Given the description of an element on the screen output the (x, y) to click on. 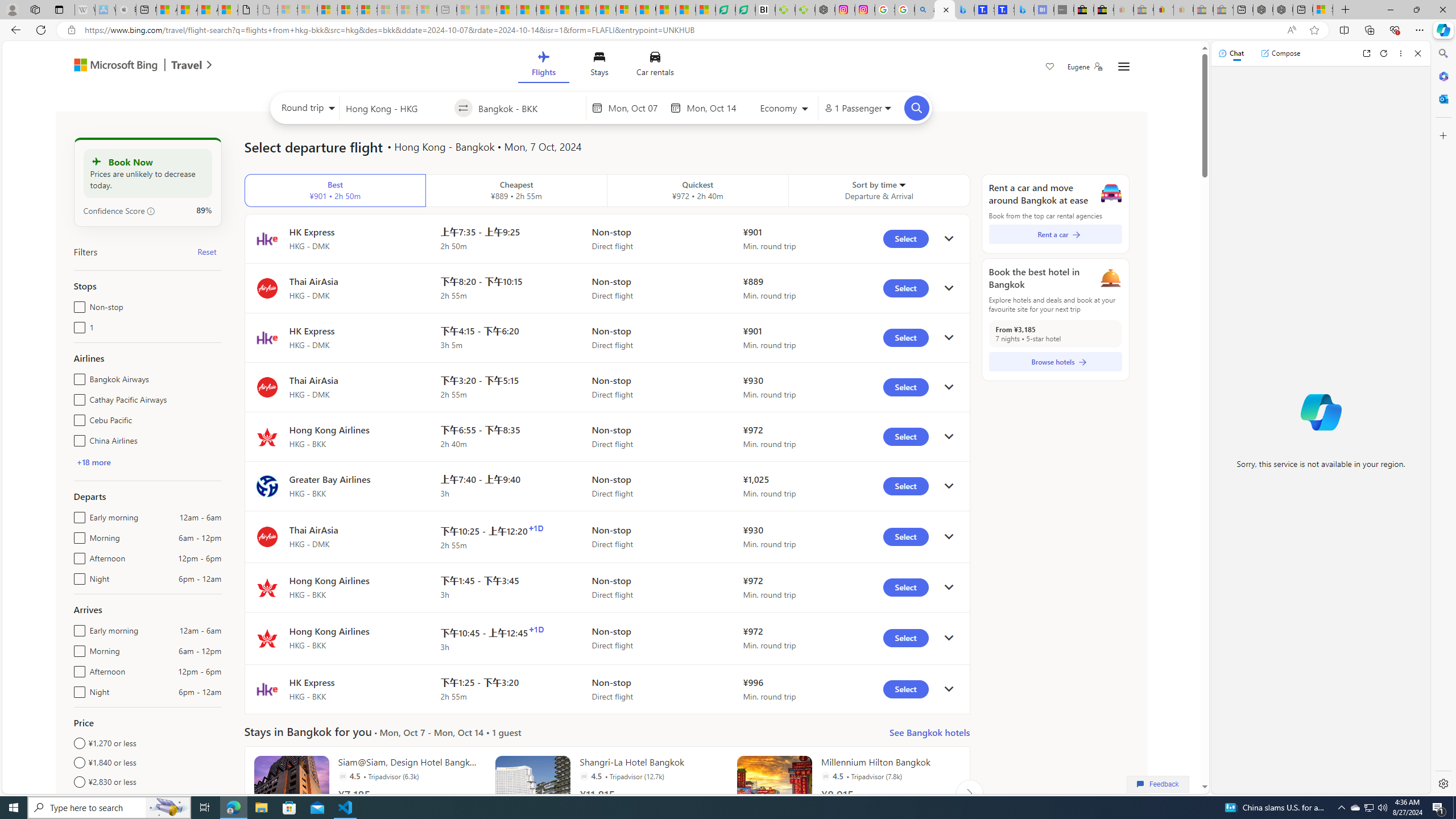
Sort by time Sorter Departure & Arrival (879, 190)
Click to scroll right (968, 792)
